Given the description of an element on the screen output the (x, y) to click on. 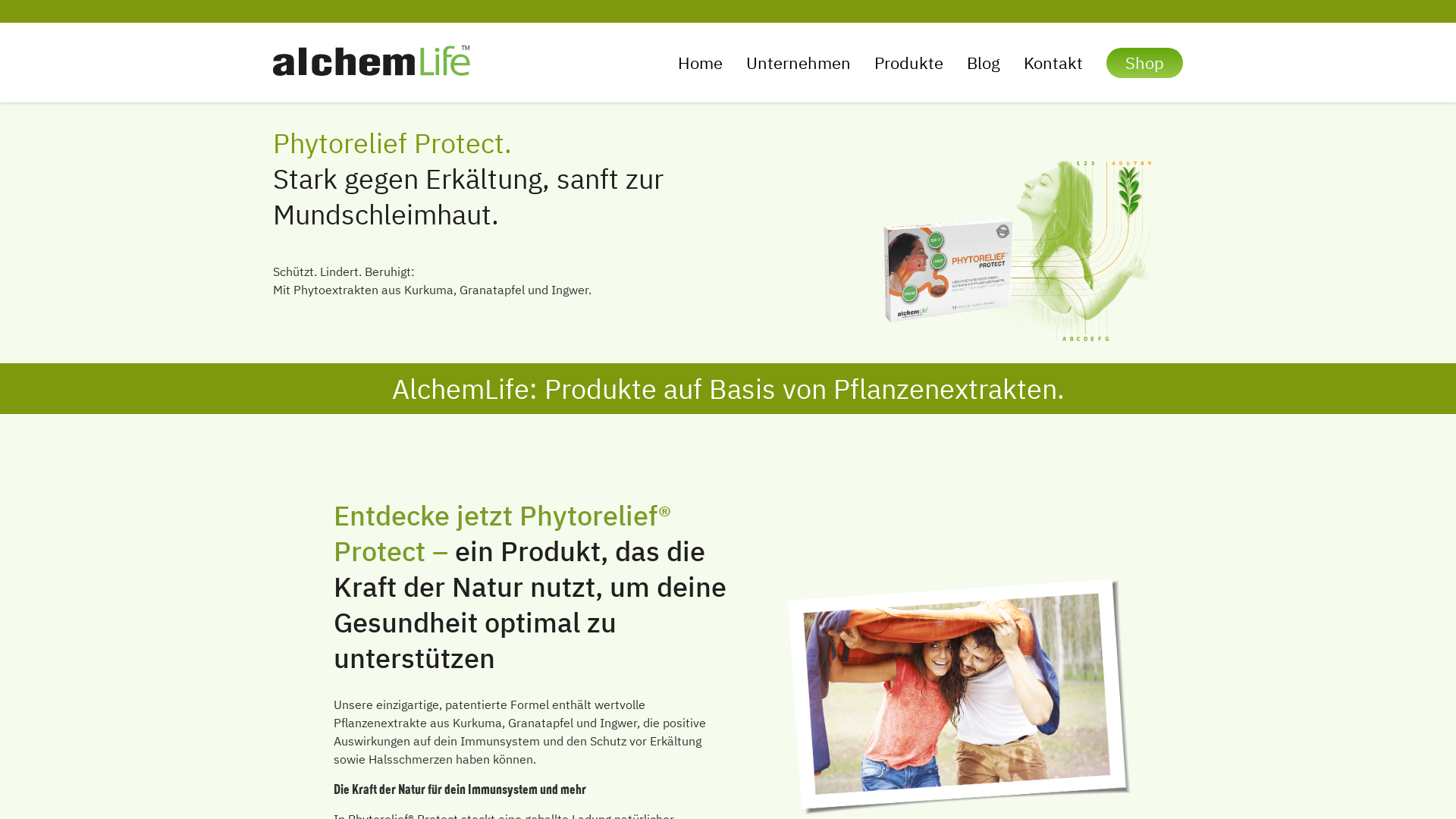
Shop Element type: text (1144, 62)
Unternehmen Element type: text (798, 62)
Kontakt Element type: text (1053, 62)
Produkte Element type: text (908, 62)
Blog Element type: text (983, 62)
Home Element type: text (700, 62)
